Given the description of an element on the screen output the (x, y) to click on. 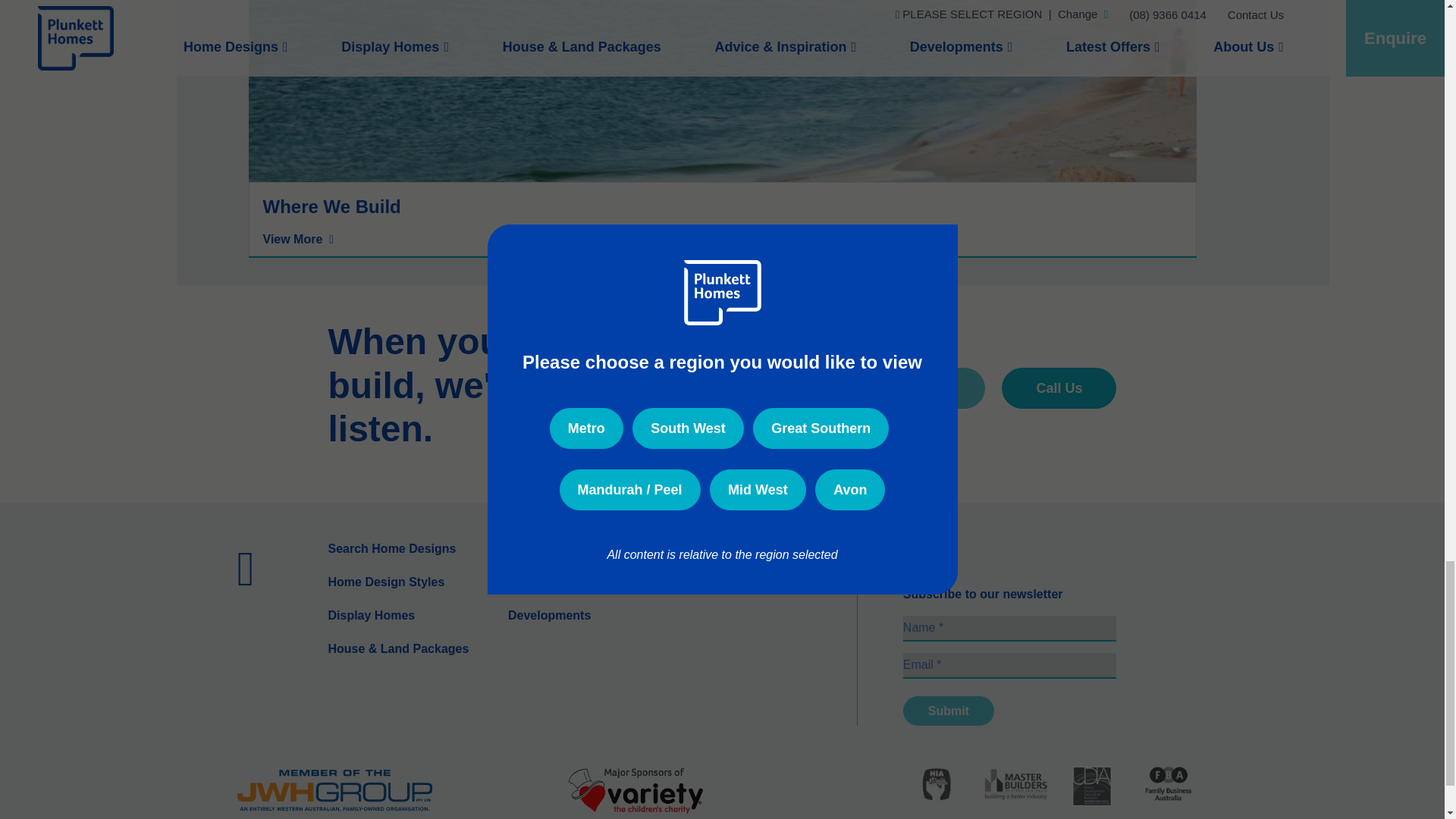
Submit (948, 710)
